Given the description of an element on the screen output the (x, y) to click on. 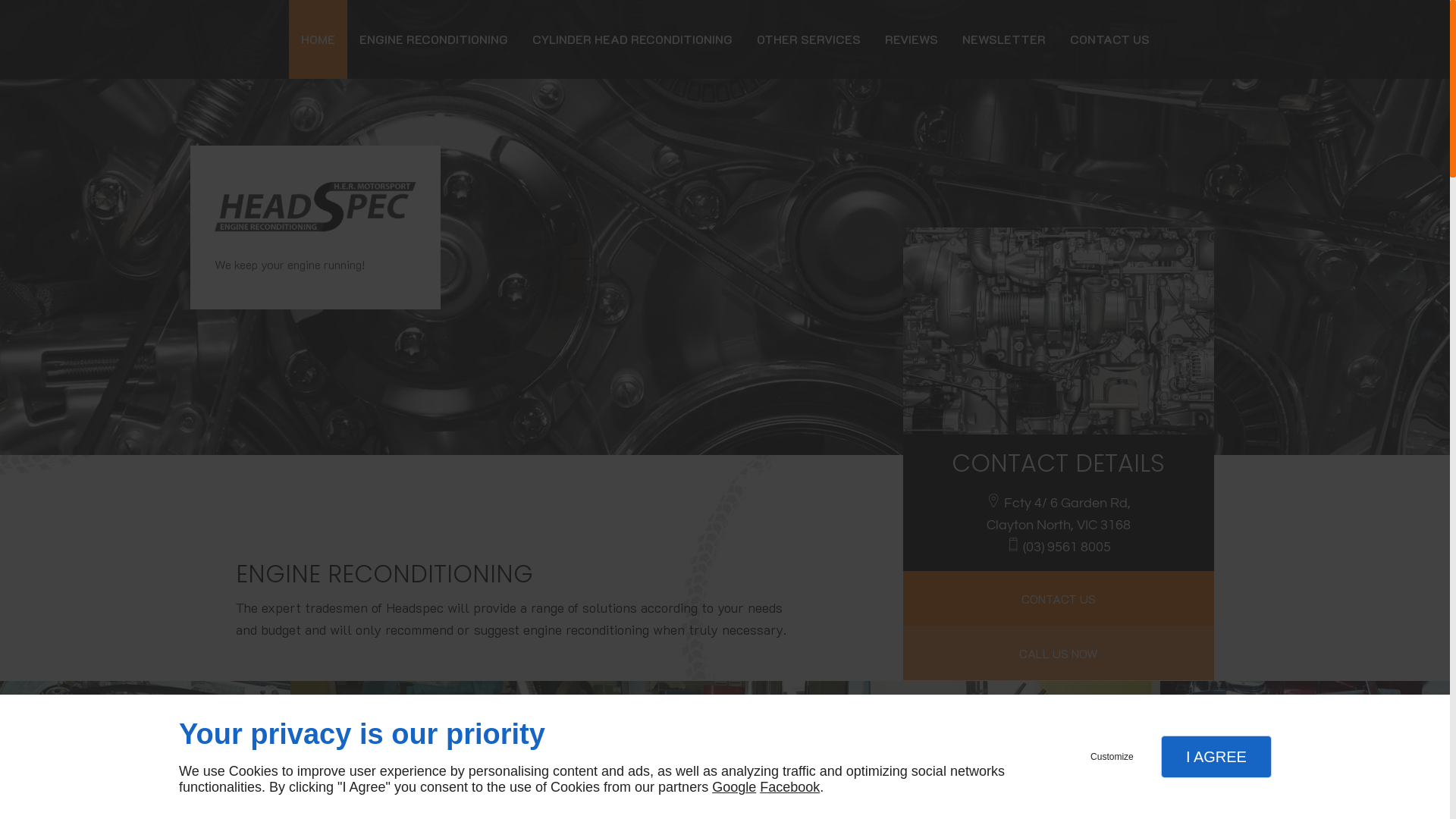
Google Element type: text (734, 786)
CALL US NOW Element type: text (1058, 652)
ENGINE RECONDITIONING Element type: text (433, 39)
OTHER SERVICES Element type: text (808, 39)
REVIEWS Element type: text (910, 39)
CONTACT US Element type: text (1058, 598)
(03) 9561 8005 Element type: text (1066, 546)
CYLINDER HEAD RECONDITIONING Element type: text (632, 39)
Facebook Element type: text (789, 786)
HOME Element type: text (317, 39)
NEWSLETTER Element type: text (1003, 39)
CONTACT US Element type: text (1109, 39)
